Given the description of an element on the screen output the (x, y) to click on. 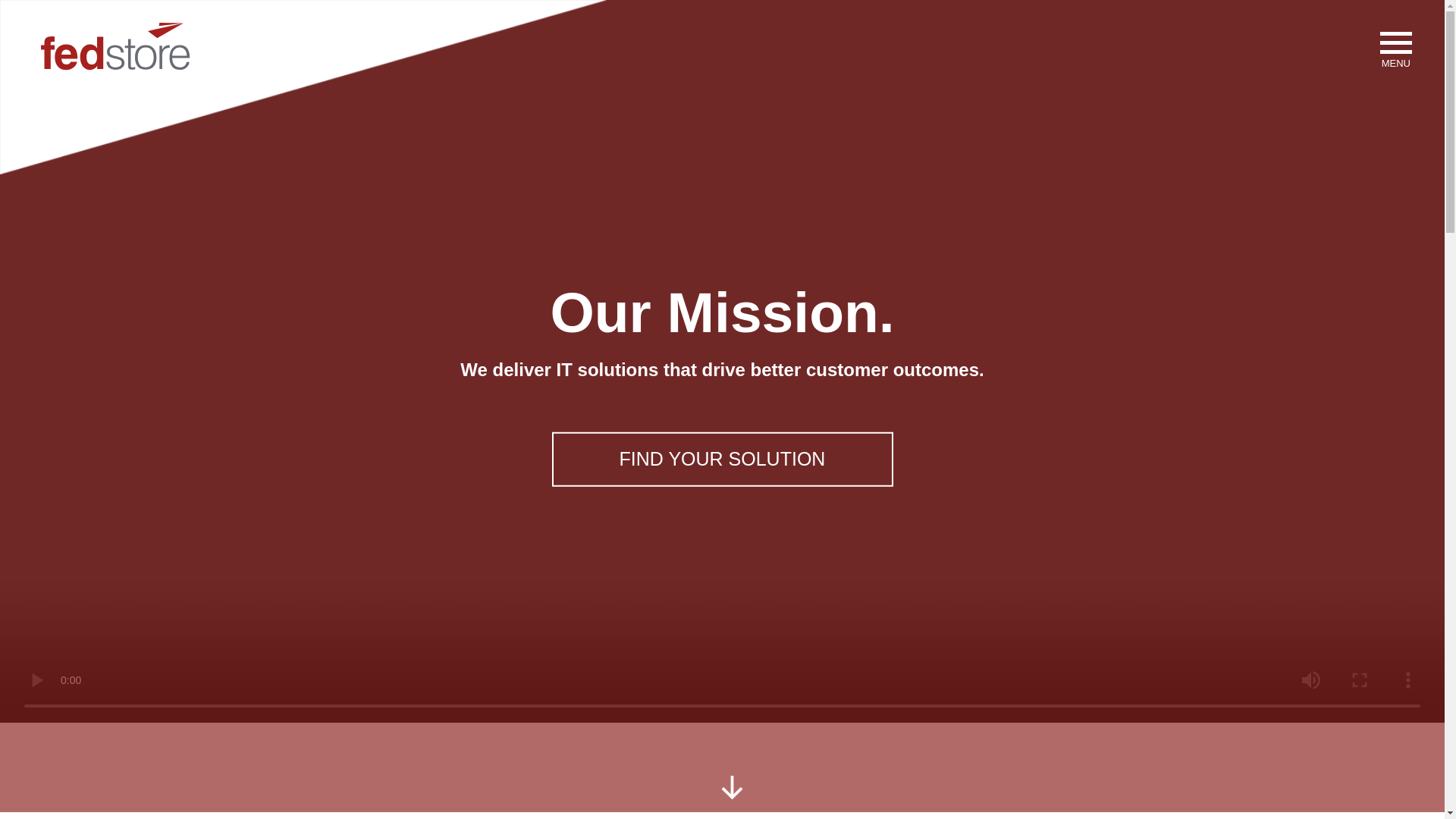
Home (113, 50)
Solutions (722, 459)
FIND YOUR SOLUTION (722, 459)
MENU (1390, 48)
